Given the description of an element on the screen output the (x, y) to click on. 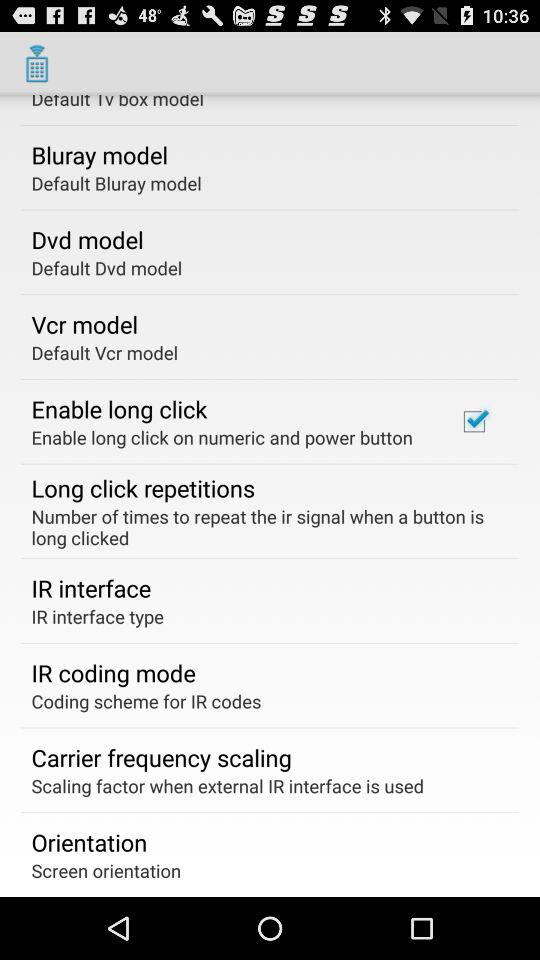
open the app below ir coding mode app (146, 700)
